Given the description of an element on the screen output the (x, y) to click on. 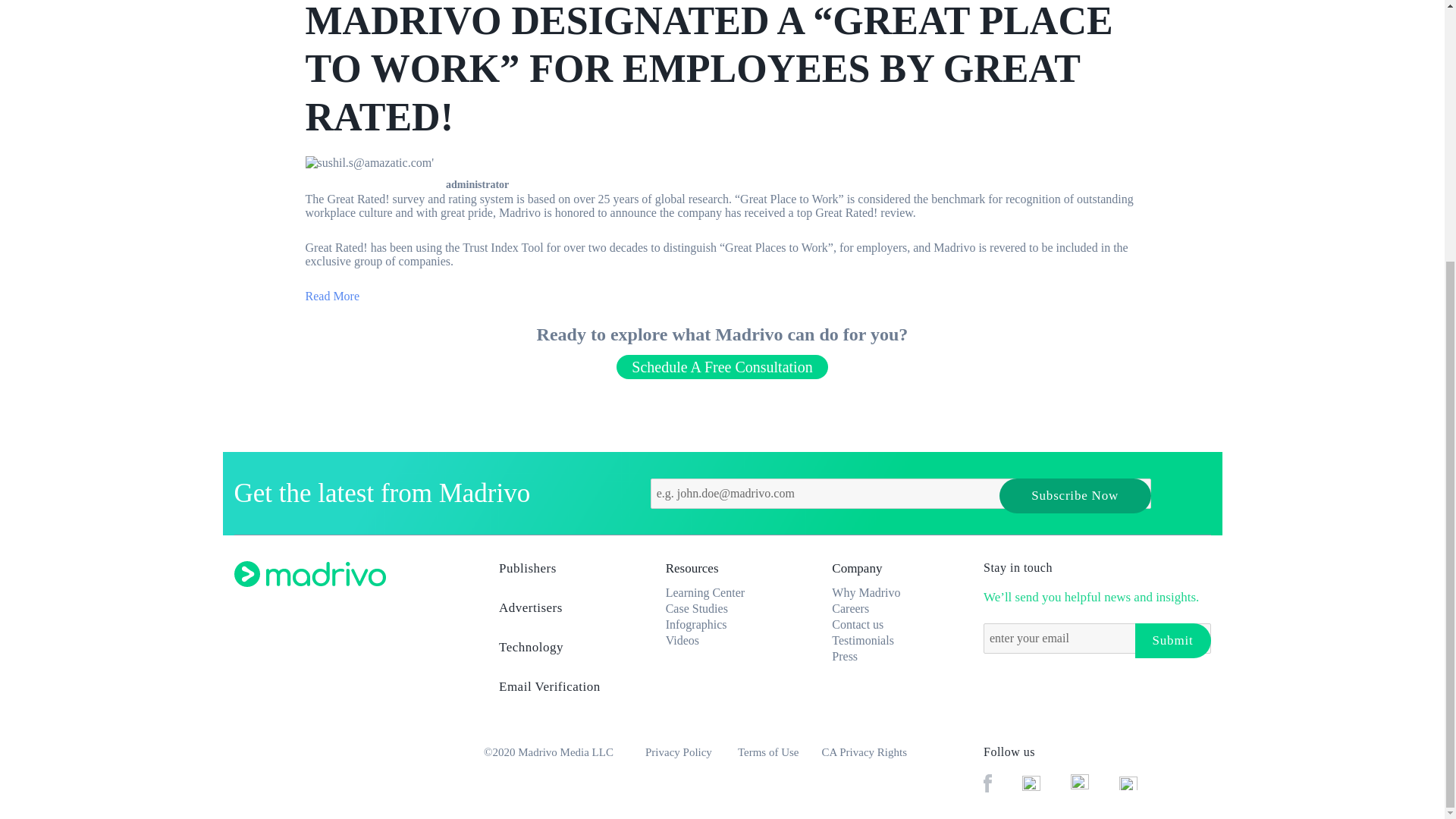
Resources (692, 568)
Case Studies (696, 608)
Why Madrivo (865, 592)
Schedule A Free Consultation (721, 366)
Testimonials (862, 640)
Videos (681, 640)
Infographics (695, 624)
Subscribe Now (1074, 495)
Email Verification (563, 691)
Publishers (563, 573)
